Given the description of an element on the screen output the (x, y) to click on. 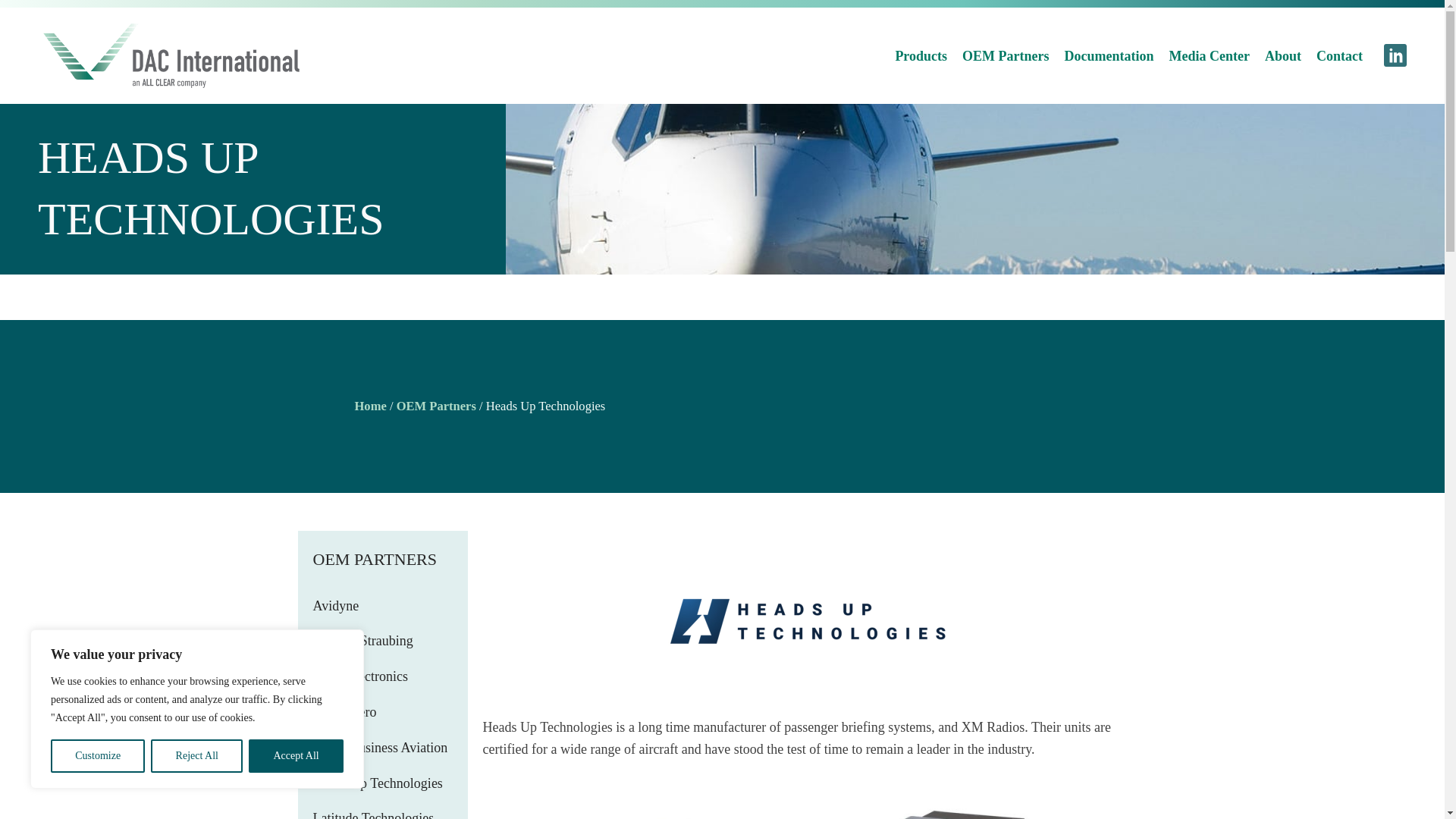
Avidyne (382, 606)
Customize (97, 756)
Home (371, 405)
Products (921, 56)
Accept All (295, 756)
OEM Partners (436, 405)
Contact (1339, 56)
Reject All (197, 756)
About (1283, 56)
Avionik Straubing (382, 641)
Media Center (1209, 56)
OEM Partners (1005, 56)
Documentation (1109, 56)
